Given the description of an element on the screen output the (x, y) to click on. 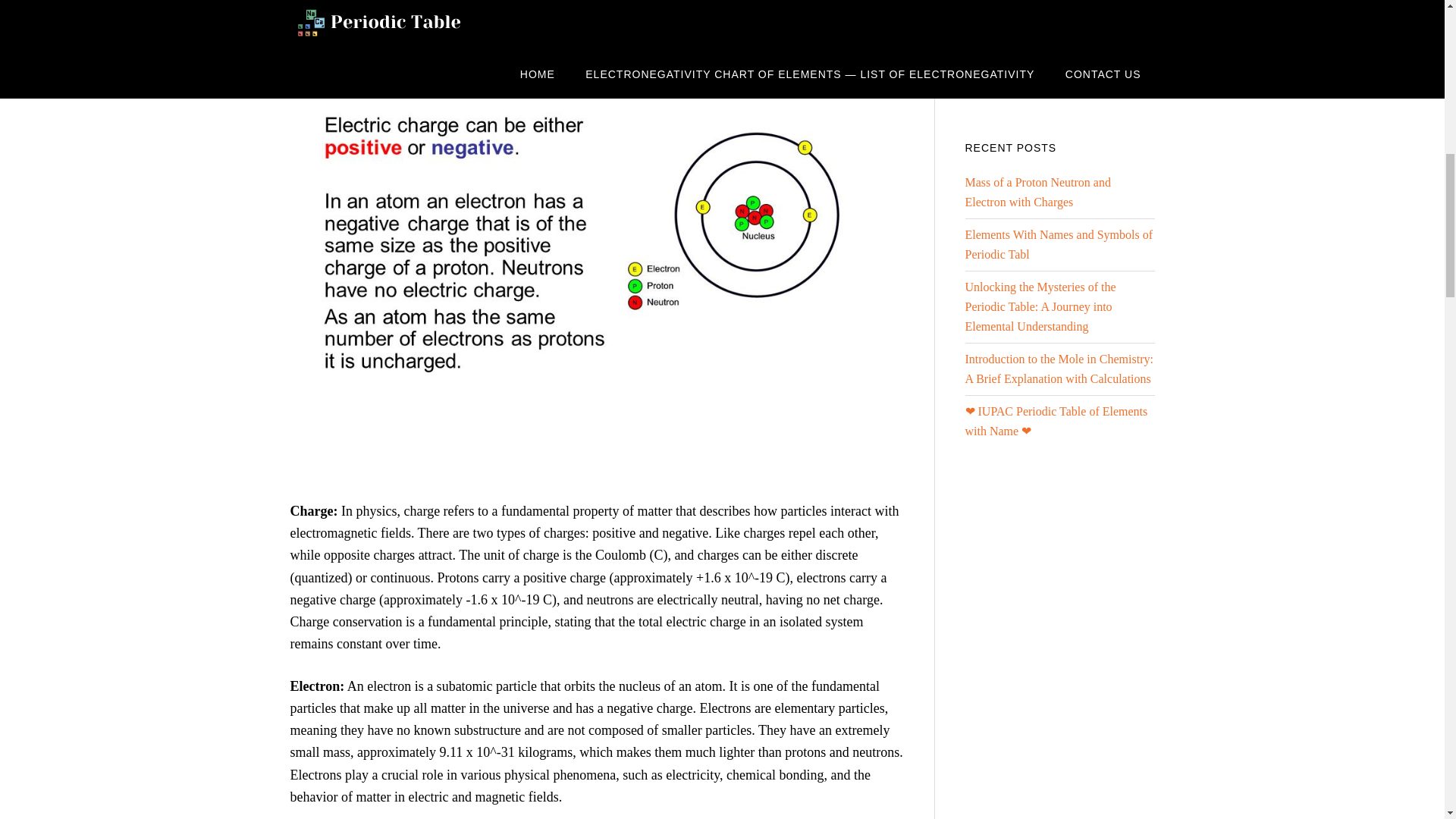
Mass of a Proton Neutron and Electron with Charges (1036, 192)
Elements With Names and Symbols of Periodic Tabl (1057, 244)
